Given the description of an element on the screen output the (x, y) to click on. 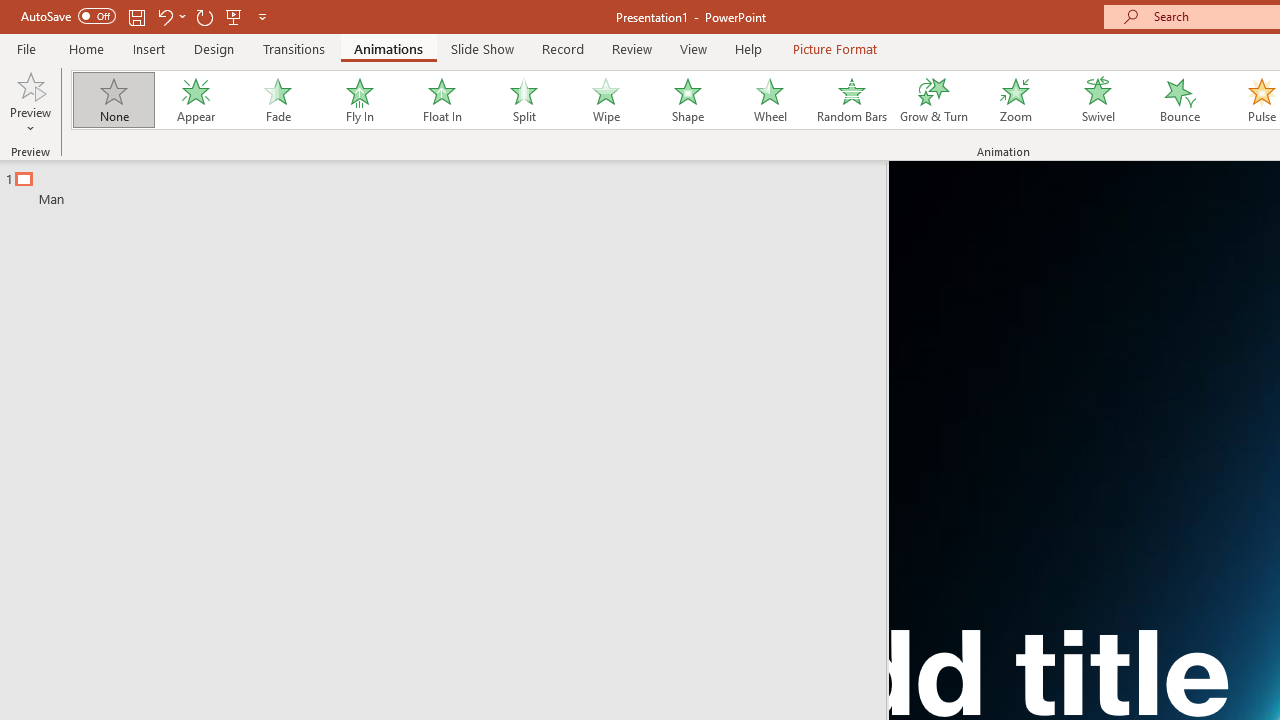
Grow & Turn (934, 100)
